Given the description of an element on the screen output the (x, y) to click on. 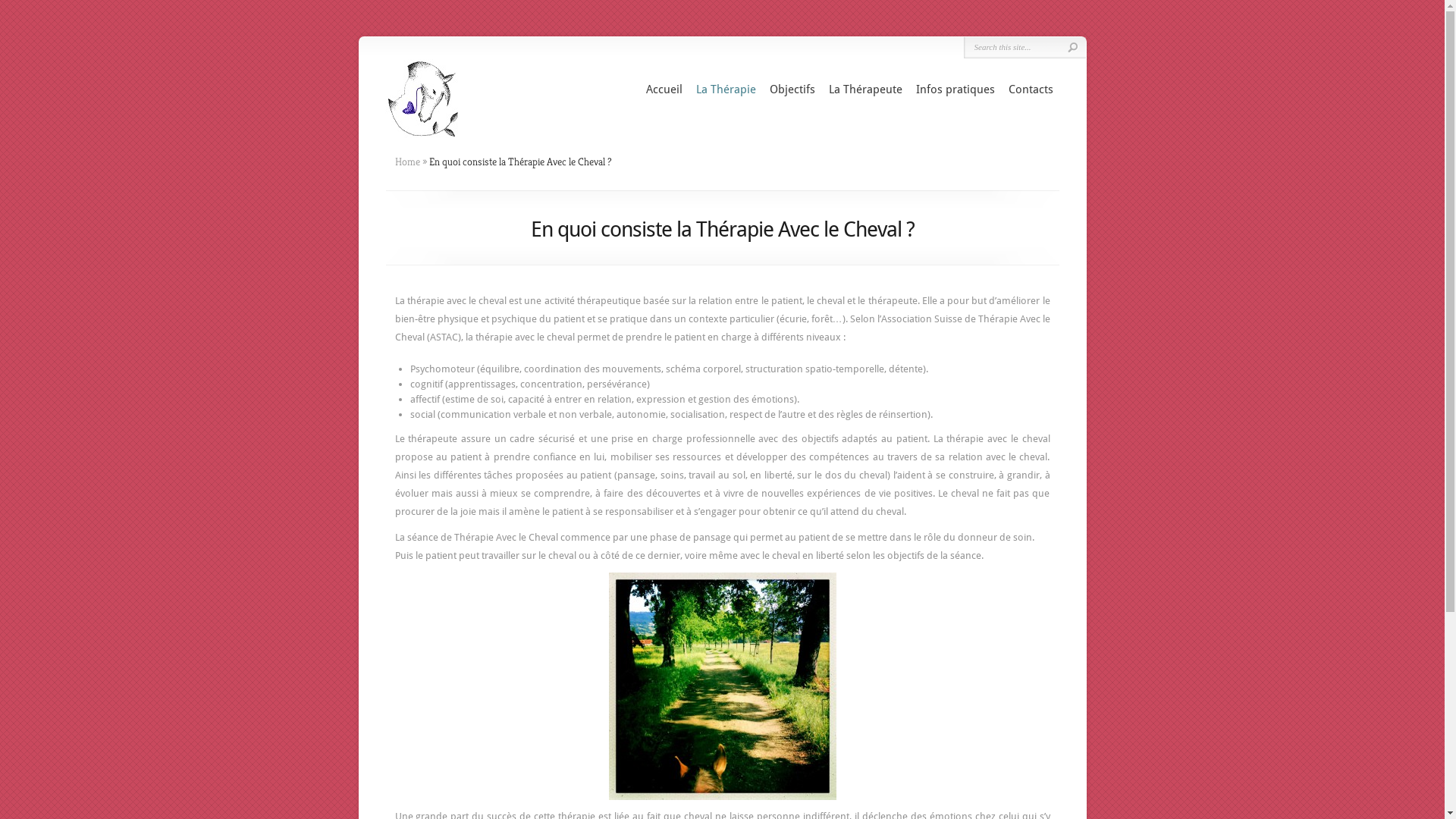
Home Element type: text (406, 161)
Infos pratiques Element type: text (955, 89)
Contacts Element type: text (1030, 89)
Objectifs Element type: text (791, 89)
Accueil Element type: text (664, 89)
